Given the description of an element on the screen output the (x, y) to click on. 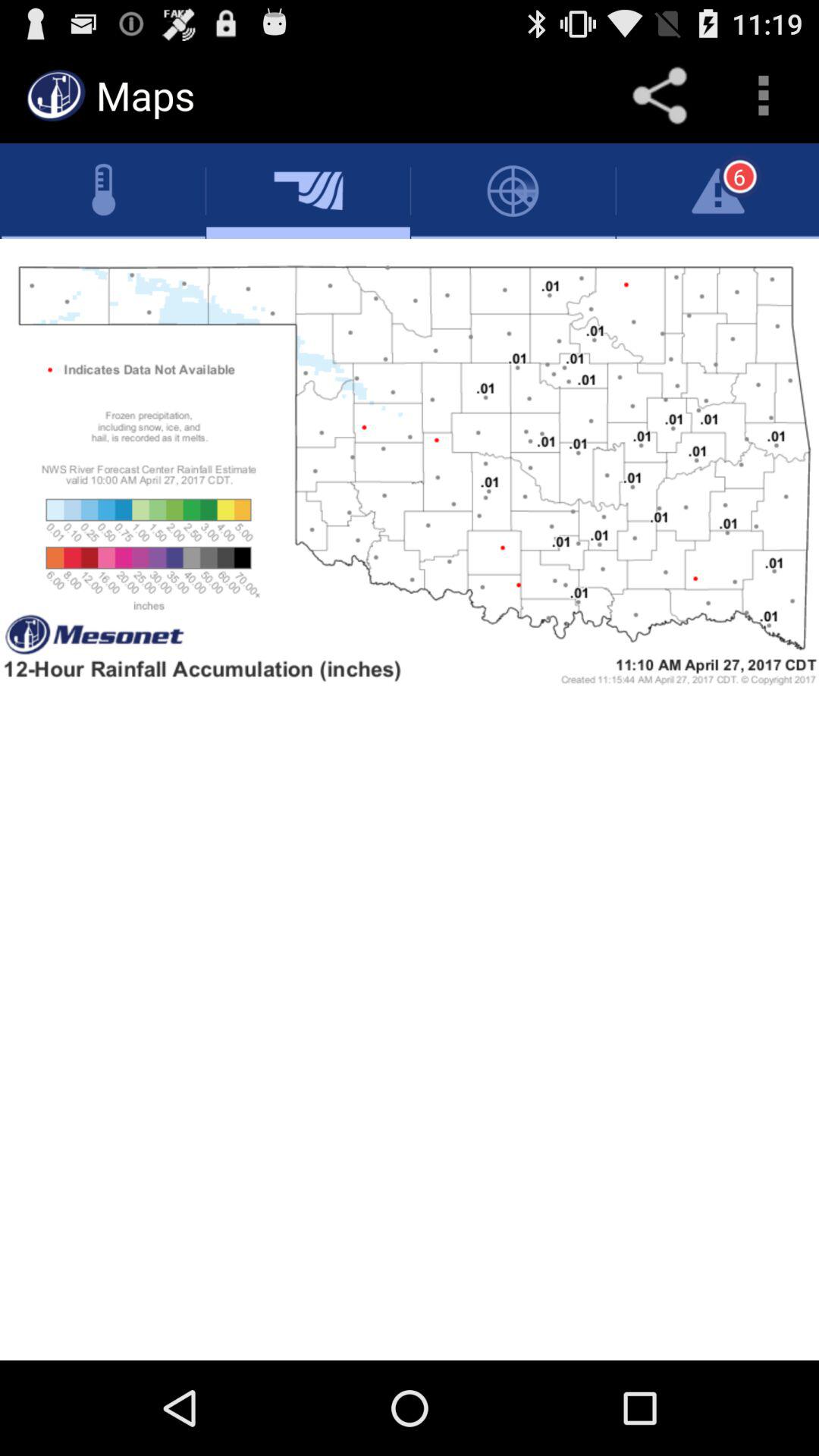
share (659, 95)
